Given the description of an element on the screen output the (x, y) to click on. 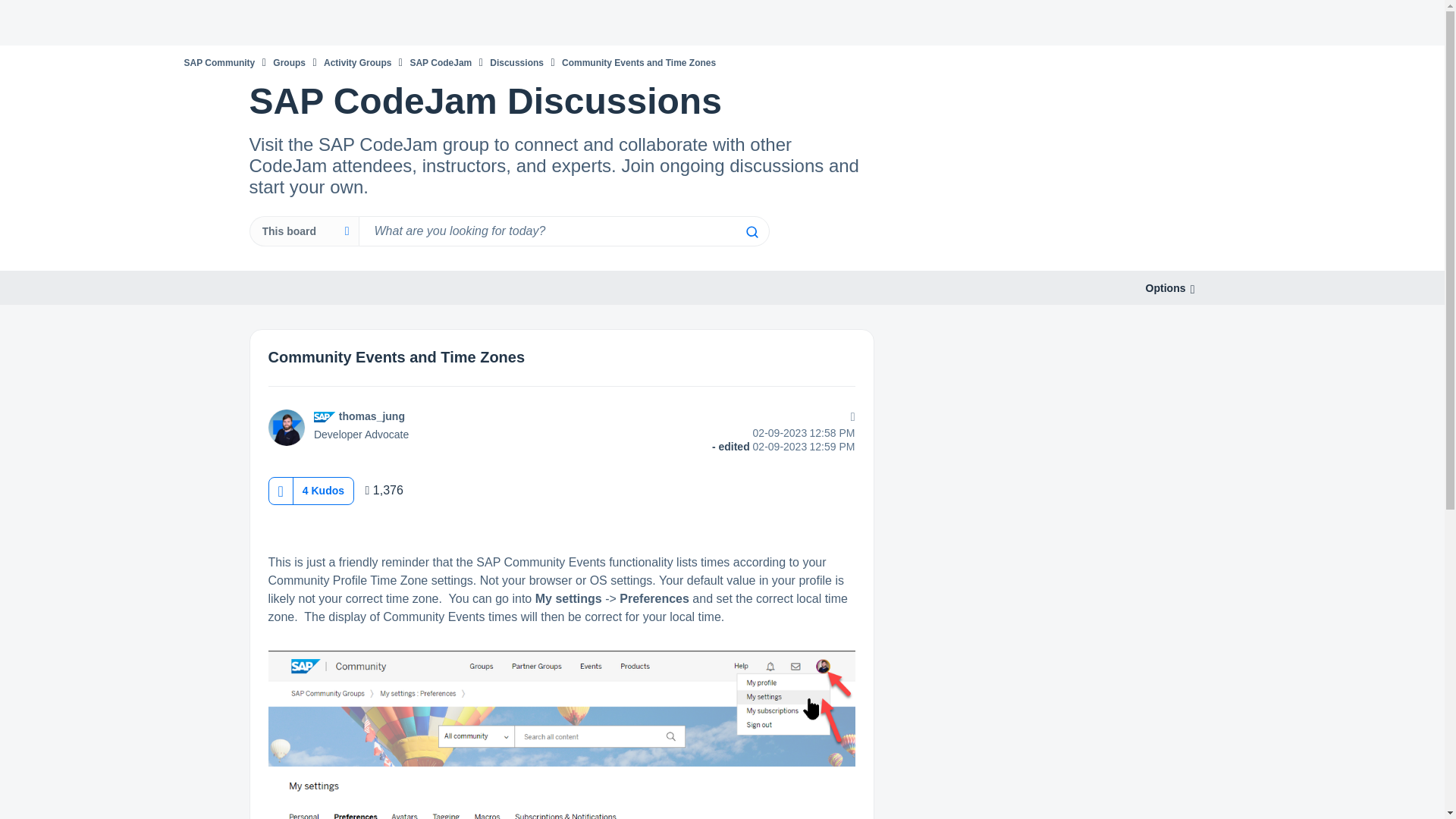
Search (563, 231)
Activity Groups (357, 62)
4 Kudos (323, 490)
SAP CodeJam (440, 62)
Search (750, 232)
Search (750, 232)
Discussions (516, 62)
Search (750, 232)
Options (1165, 287)
Groups (289, 62)
SAP Community (218, 62)
Click here to see who gave kudos to this post. (323, 490)
Click here to give kudos to this post. (279, 490)
Show option menu (1165, 287)
Search Granularity (303, 231)
